Given the description of an element on the screen output the (x, y) to click on. 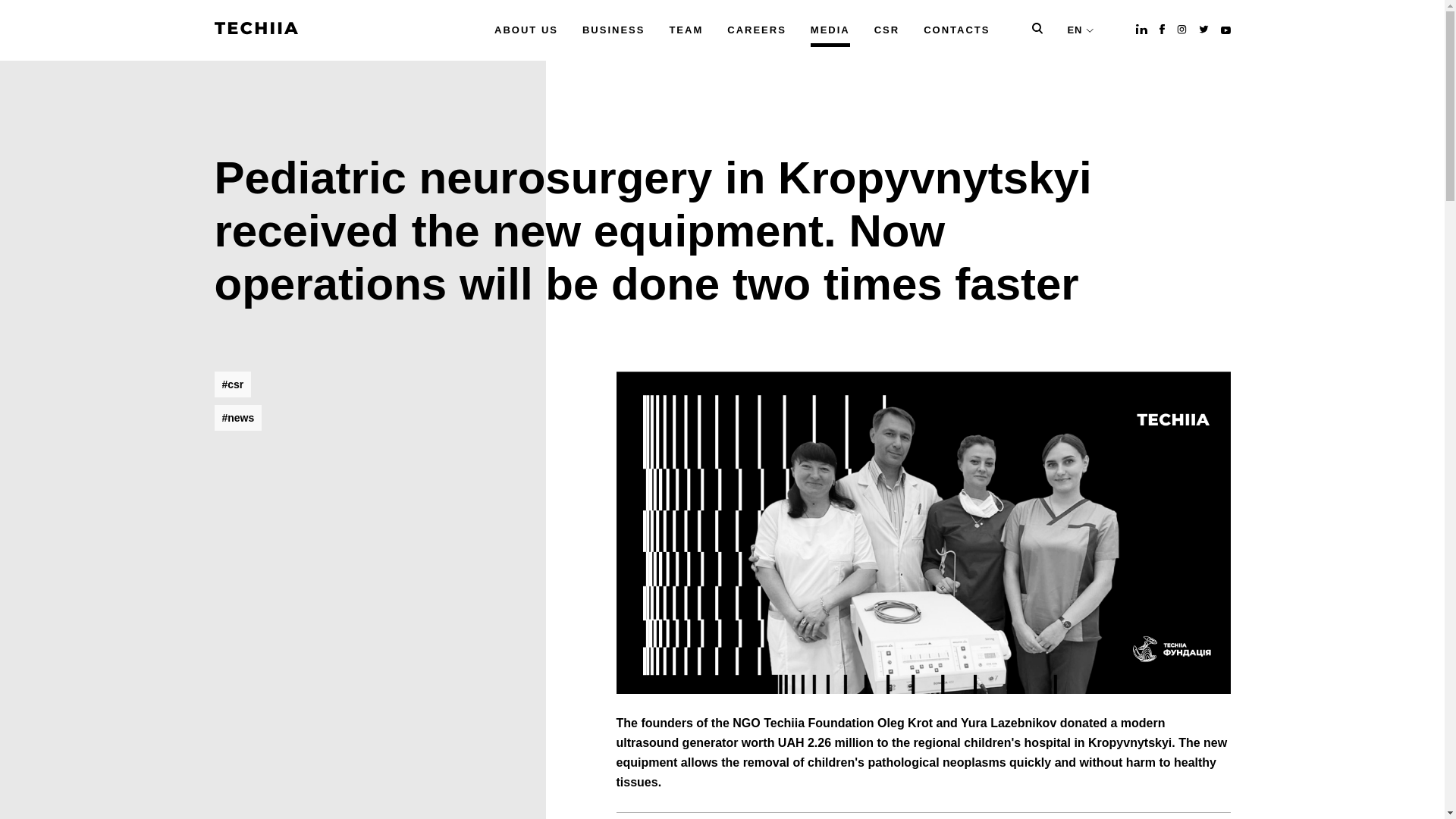
MEDIA (830, 29)
CAREERS (756, 29)
ABOUT US (526, 29)
EN (1080, 30)
TEAM (685, 29)
BUSINESS (613, 29)
CSR (887, 29)
CONTACTS (956, 29)
